Given the description of an element on the screen output the (x, y) to click on. 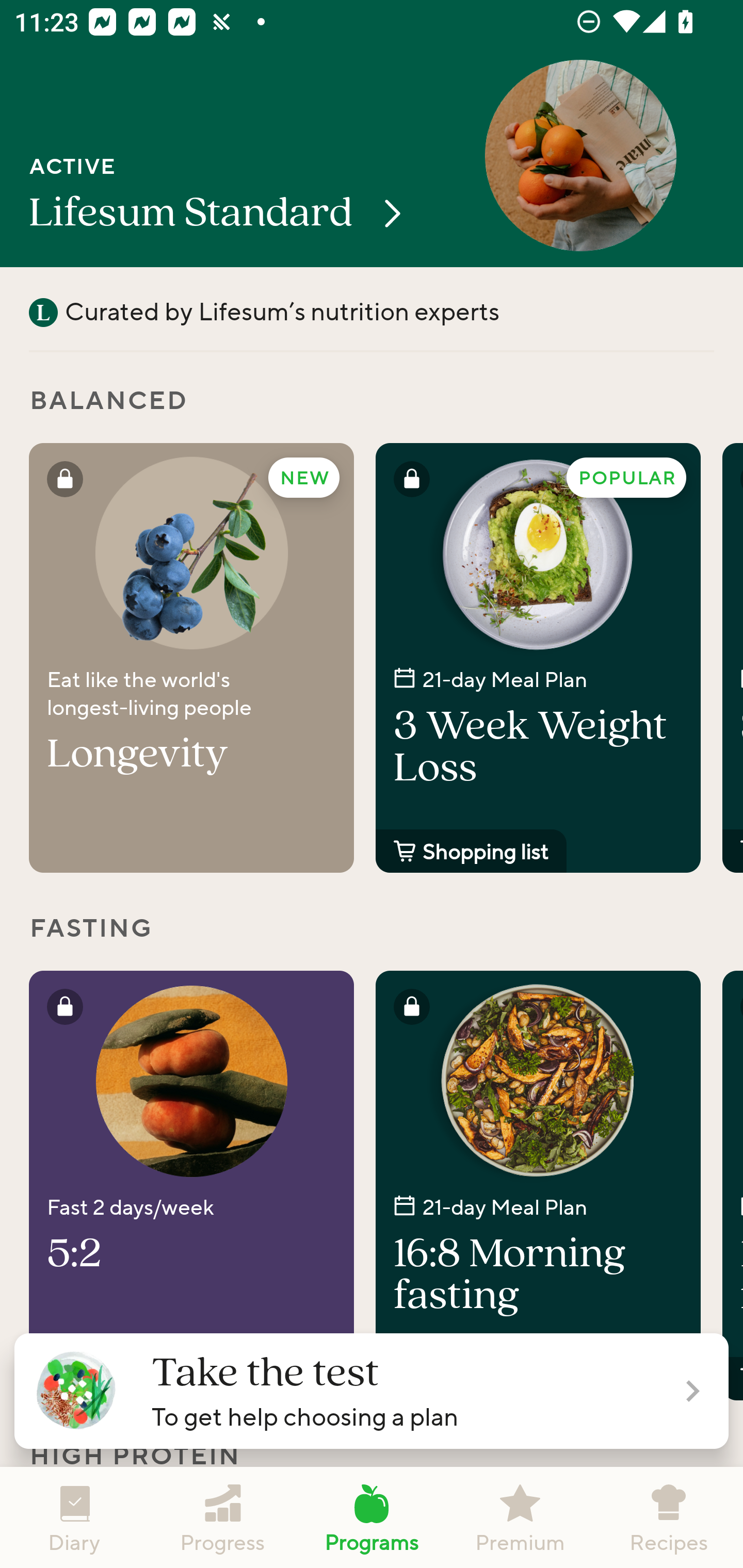
Fast 2 days/week 5:2 (190, 1185)
Take the test To get help choosing a plan (371, 1390)
Diary (74, 1517)
Progress (222, 1517)
Premium (519, 1517)
Recipes (668, 1517)
